Given the description of an element on the screen output the (x, y) to click on. 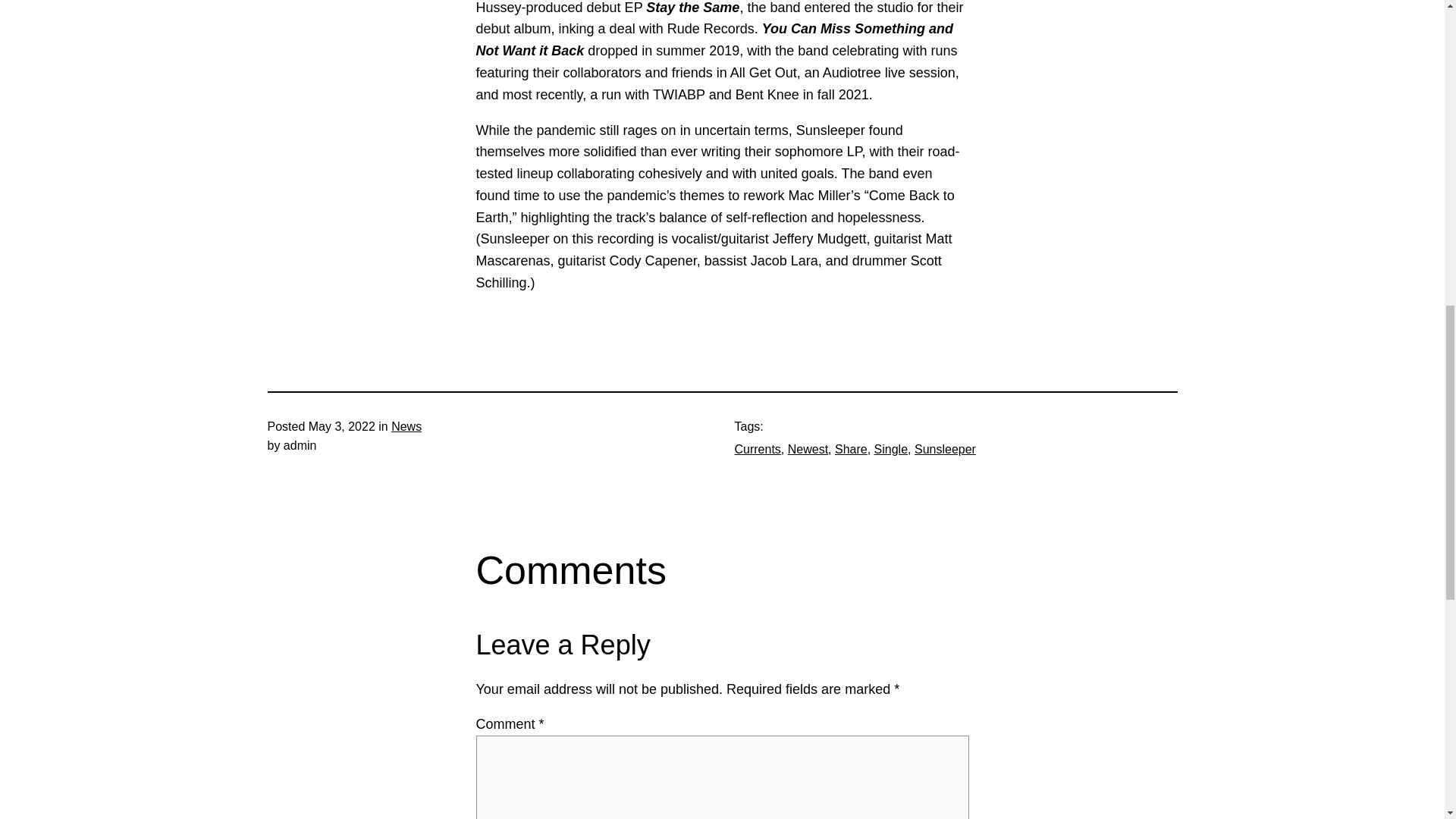
News (406, 426)
Share (850, 449)
Single (891, 449)
Currents (756, 449)
Sunsleeper (944, 449)
Newest (807, 449)
